Given the description of an element on the screen output the (x, y) to click on. 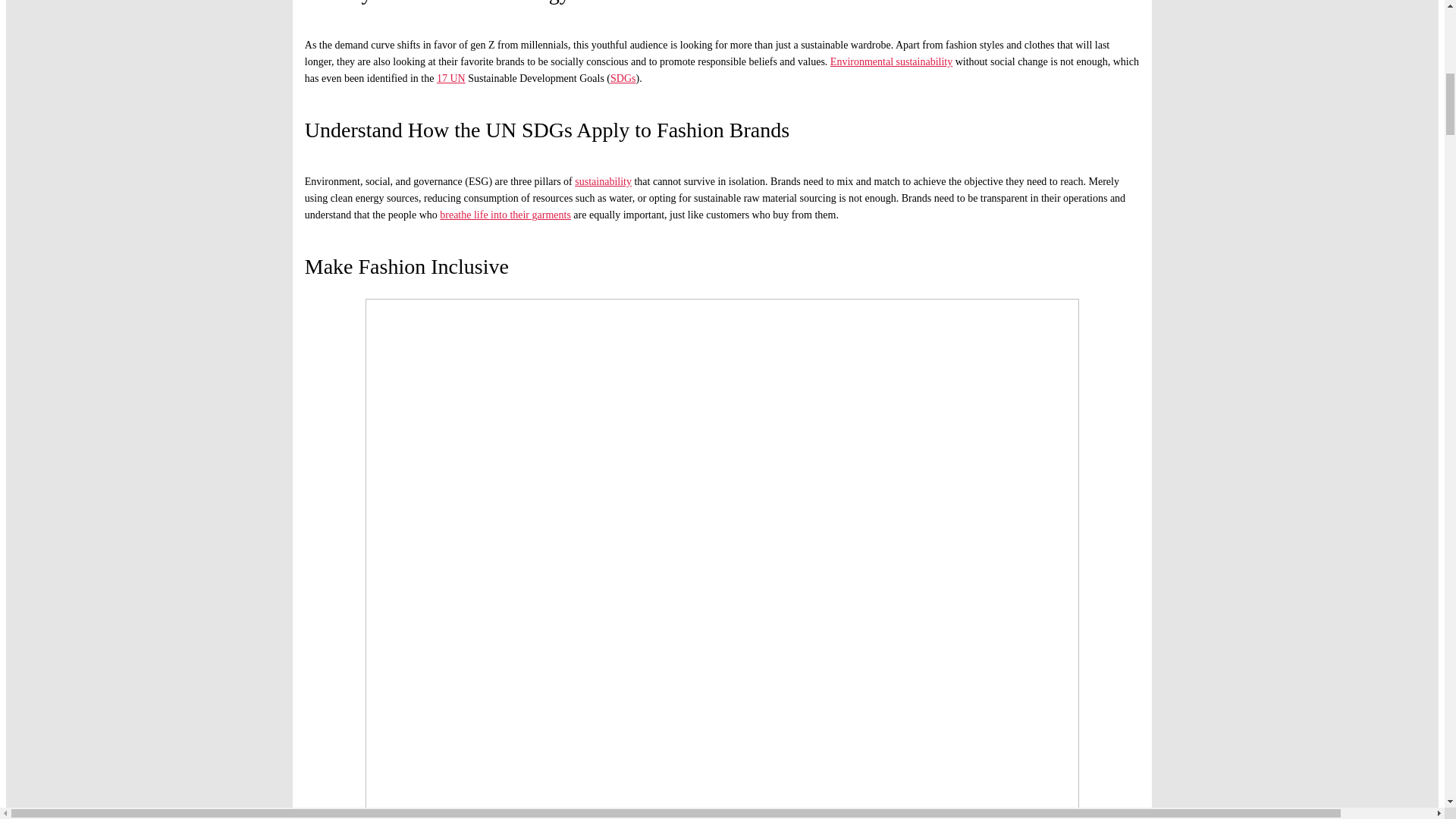
17 UN (450, 78)
Environmental sustainability (890, 61)
breathe life into their garments (504, 214)
sustainability (603, 181)
SDGs (622, 78)
